Given the description of an element on the screen output the (x, y) to click on. 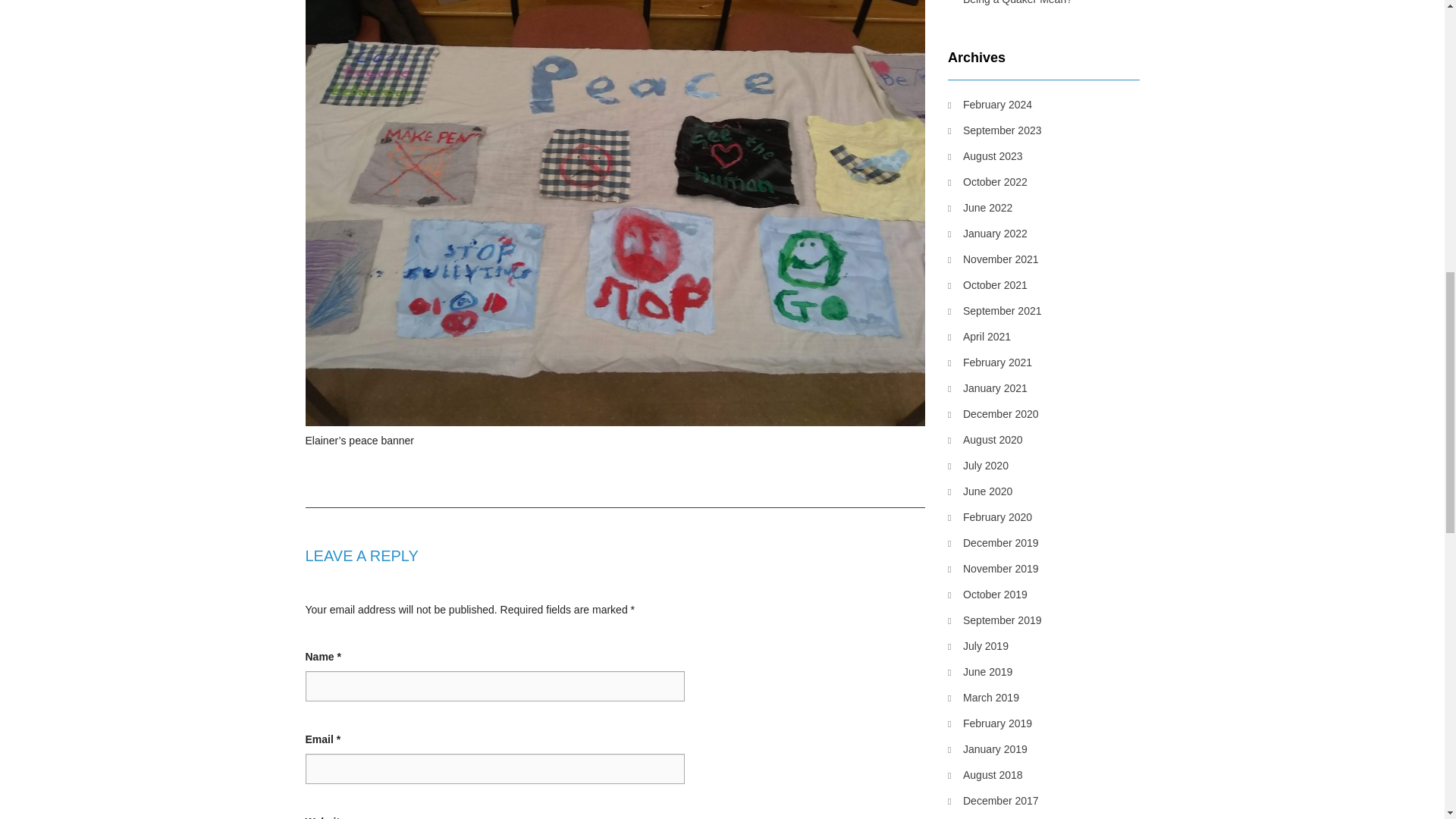
November 2021 (993, 259)
February 2024 (989, 104)
June 2022 (979, 208)
Quaker Week 2022: What Does Being a Quaker Mean? (1043, 4)
January 2022 (987, 233)
September 2023 (994, 130)
August 2023 (985, 156)
October 2022 (987, 181)
